Given the description of an element on the screen output the (x, y) to click on. 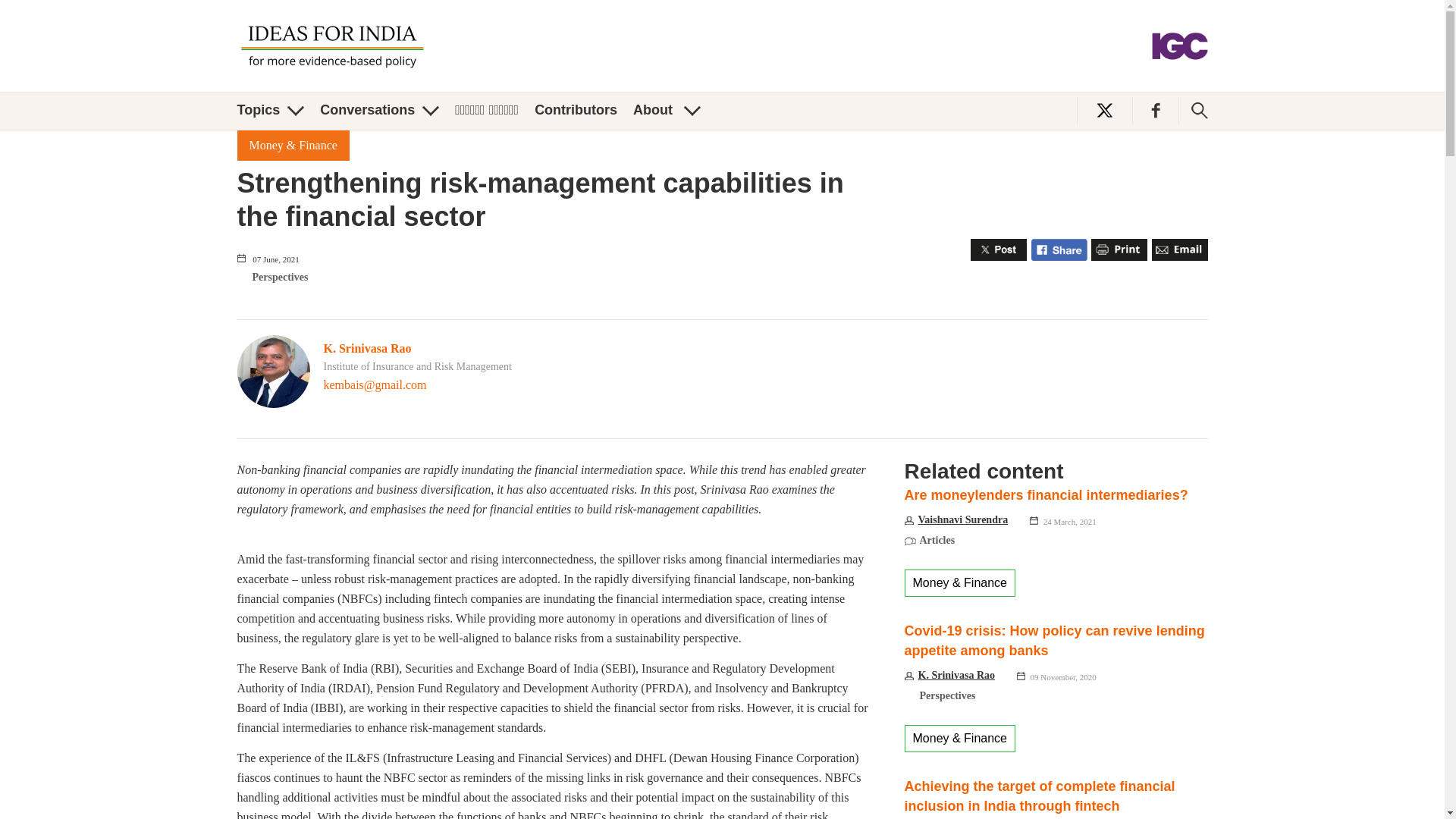
Contributors (575, 109)
Conversations (379, 109)
Topics (269, 109)
About (666, 109)
K. Srinivasa Rao (366, 348)
